Given the description of an element on the screen output the (x, y) to click on. 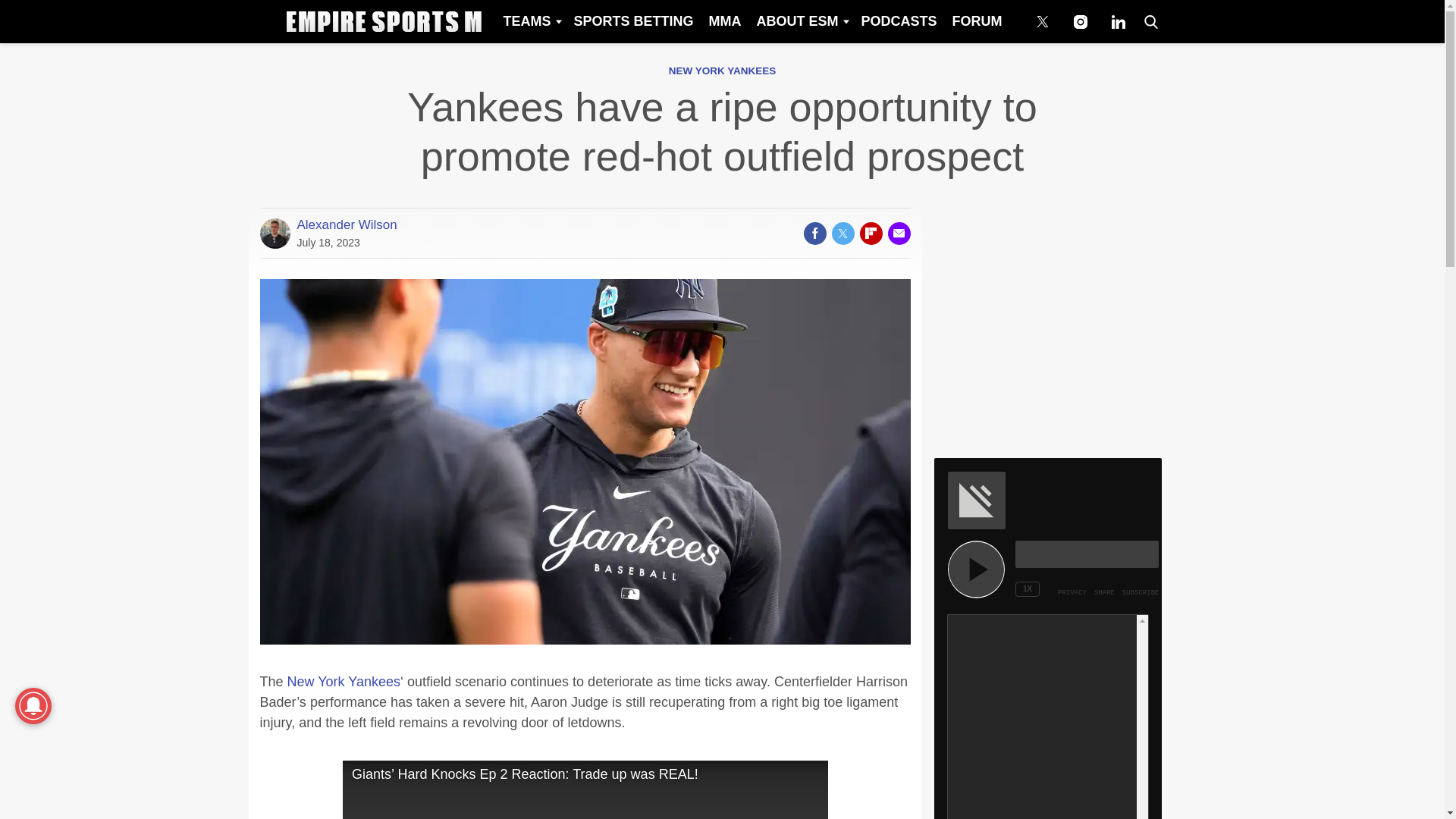
Posts by Alexander Wilson (347, 225)
Share via Email (898, 232)
Share on Facebook (815, 232)
Share on Twitter (842, 232)
MMA (724, 21)
PODCASTS (898, 21)
Alexander Wilson (347, 225)
SPORTS BETTING (633, 21)
ABOUT ESM (800, 21)
New York (317, 681)
NEW YORK YANKEES (722, 70)
TEAMS (530, 21)
Share on Flipboard (871, 232)
Yankees (373, 681)
FORUM (977, 21)
